Given the description of an element on the screen output the (x, y) to click on. 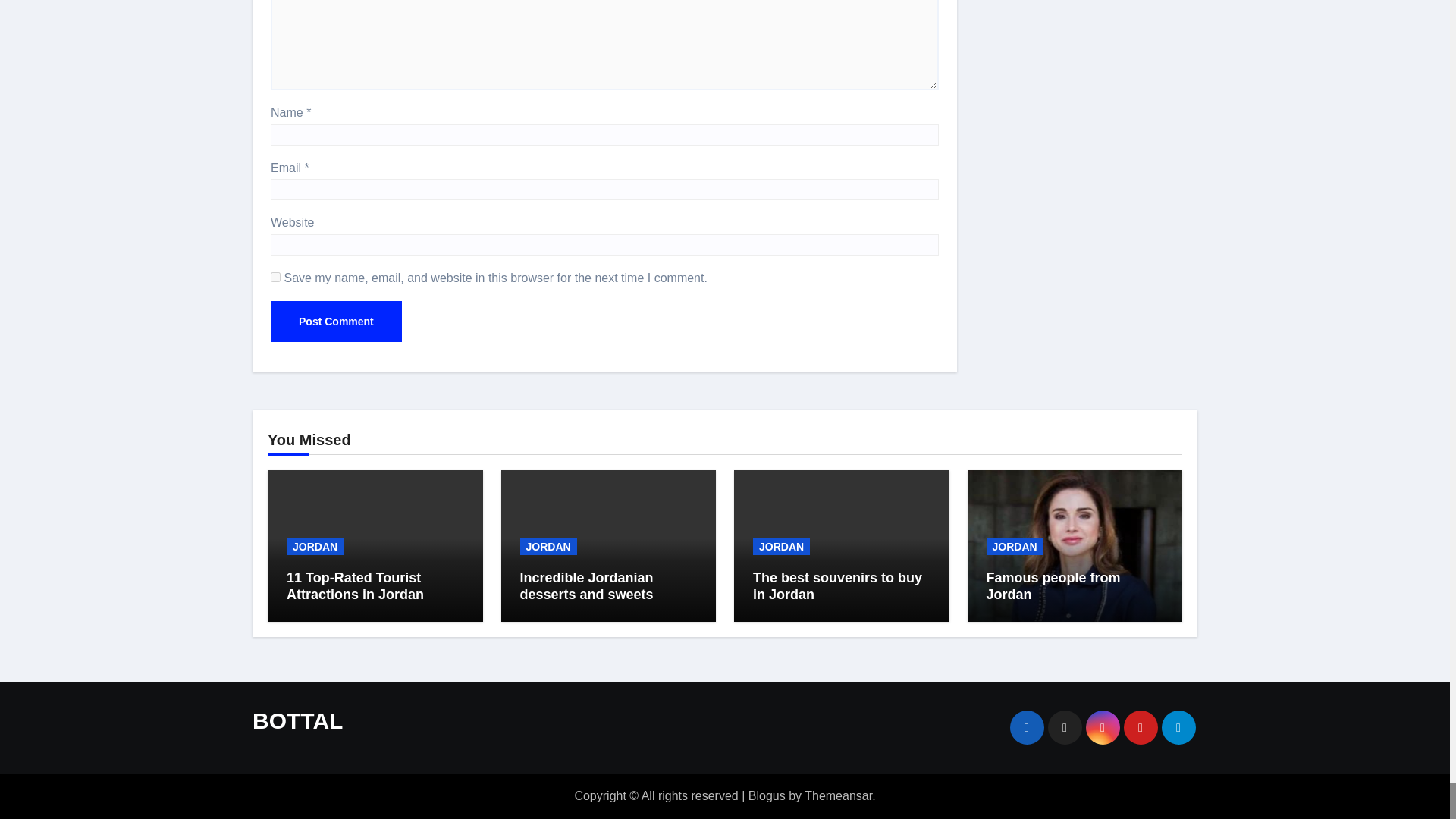
Permalink to: Famous people from Jordan (1052, 585)
Post Comment (335, 321)
Permalink to: 11 Top-Rated Tourist Attractions in Jordan (354, 585)
Permalink to: The best souvenirs to buy in Jordan (836, 585)
yes (275, 276)
Permalink to: Incredible Jordanian desserts and sweets (586, 585)
